Given the description of an element on the screen output the (x, y) to click on. 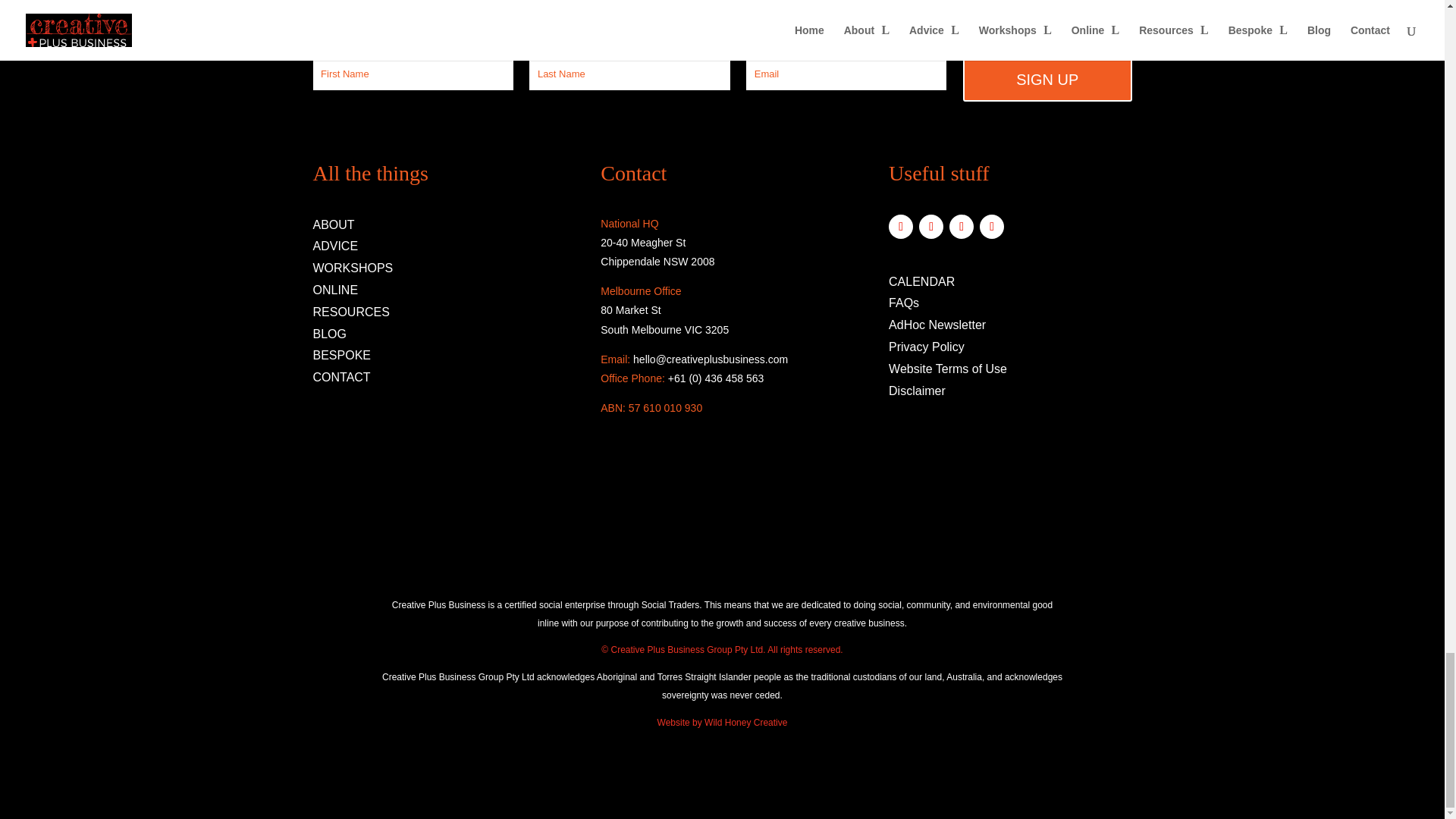
Follow on Instagram (930, 226)
Follow on Facebook (900, 226)
